Given the description of an element on the screen output the (x, y) to click on. 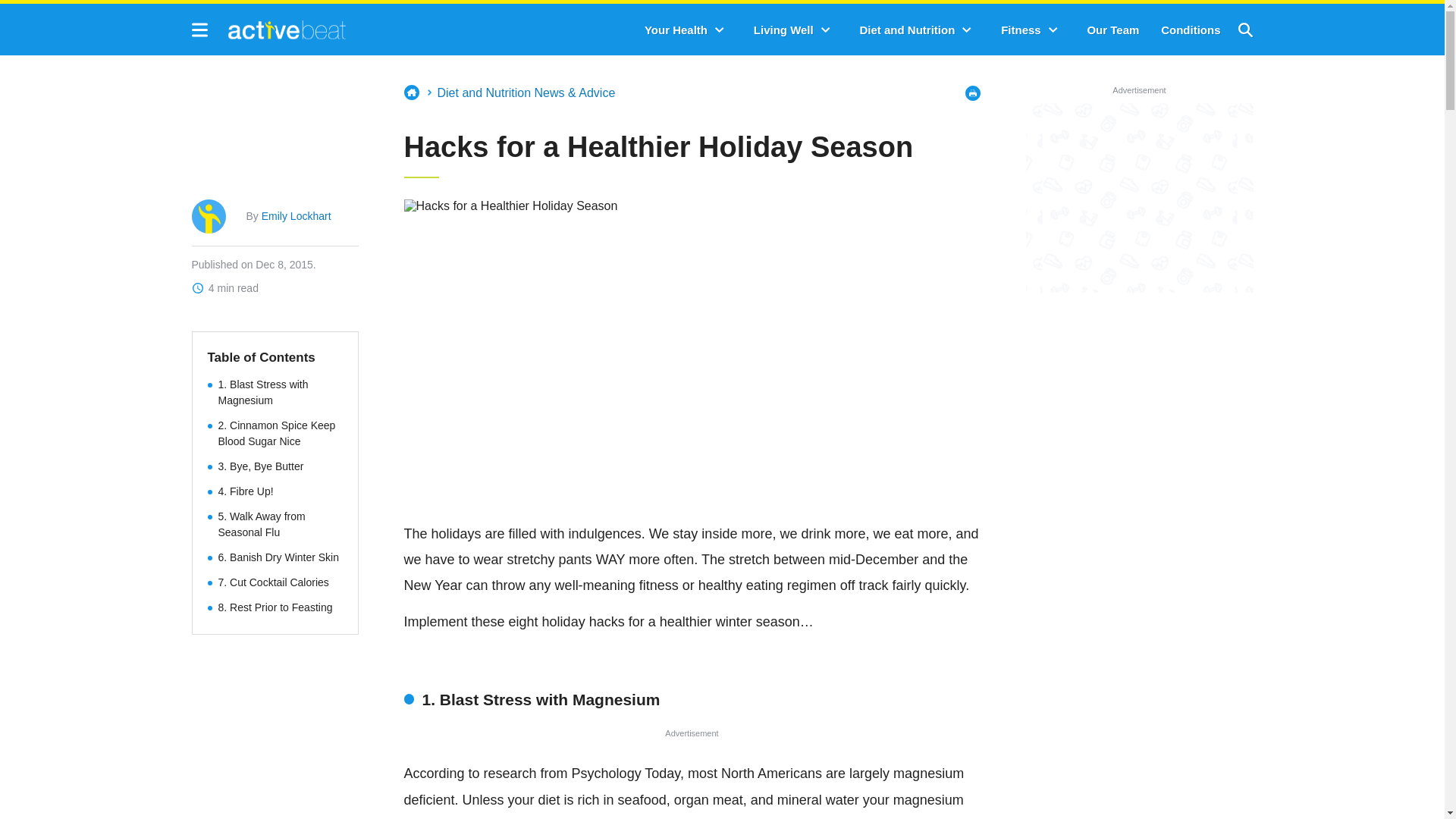
Your Health (676, 29)
